Given the description of an element on the screen output the (x, y) to click on. 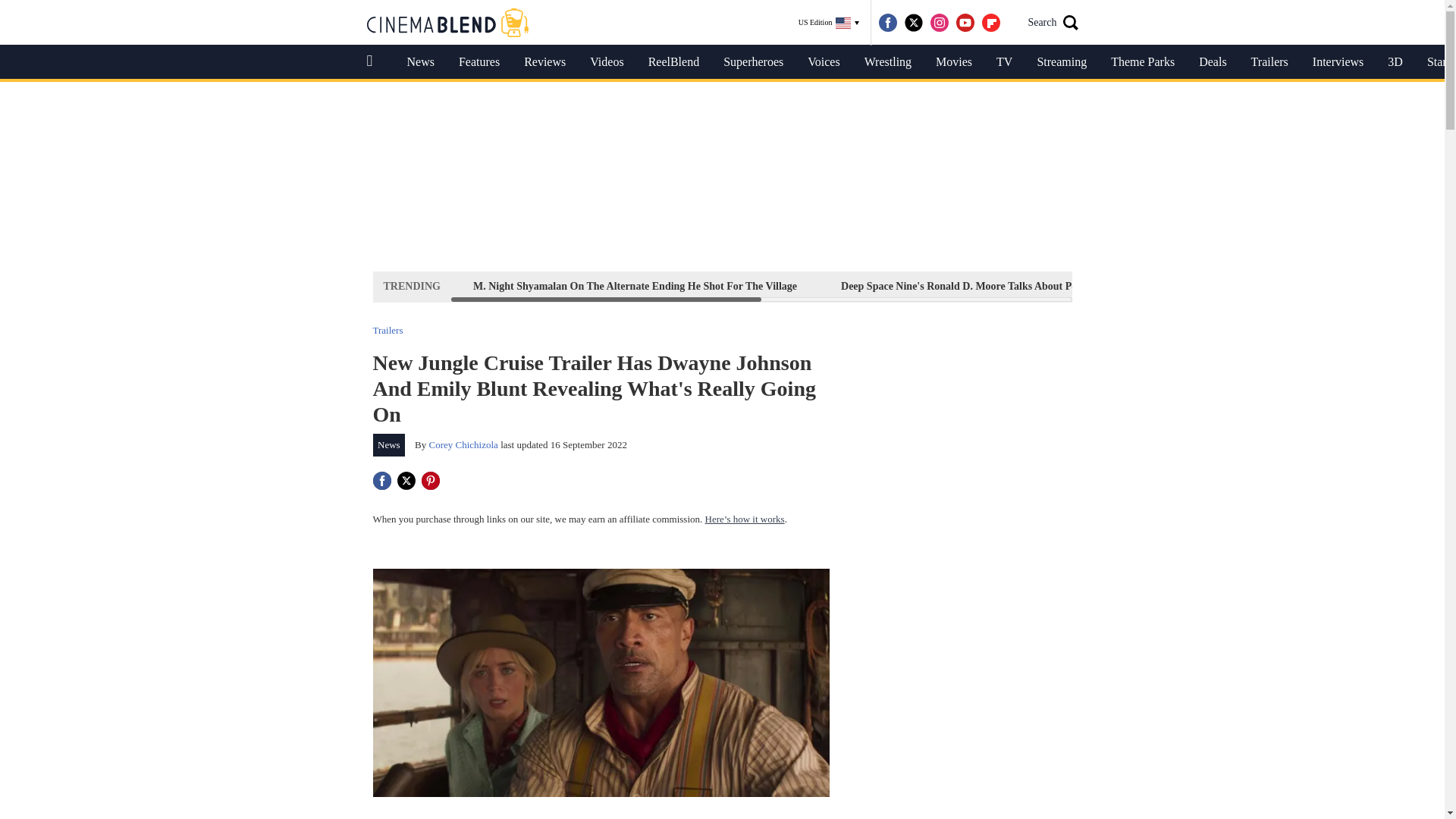
Voices (822, 61)
TV (1004, 61)
Deals (1212, 61)
Streaming (1062, 61)
Interviews (1337, 61)
ReelBlend (673, 61)
Videos (606, 61)
Trailers (387, 329)
Superheroes (752, 61)
